Given the description of an element on the screen output the (x, y) to click on. 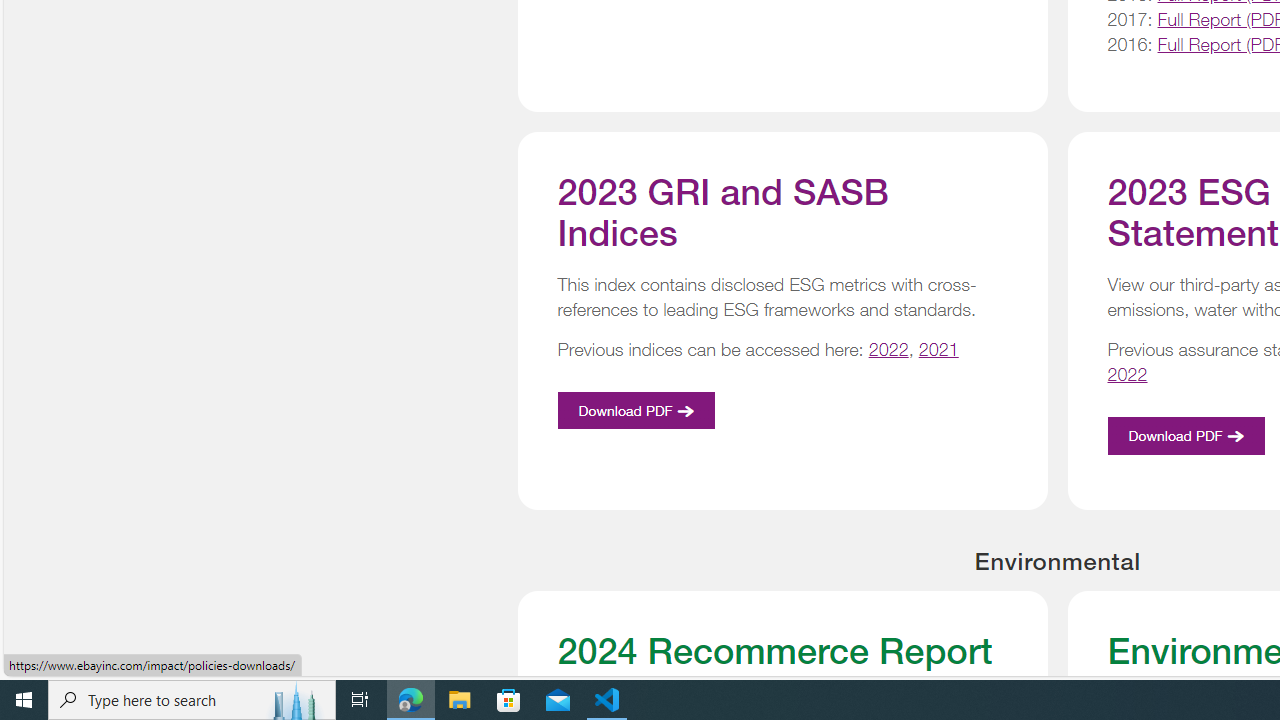
2021 (937, 349)
2022 (1127, 374)
